Given the description of an element on the screen output the (x, y) to click on. 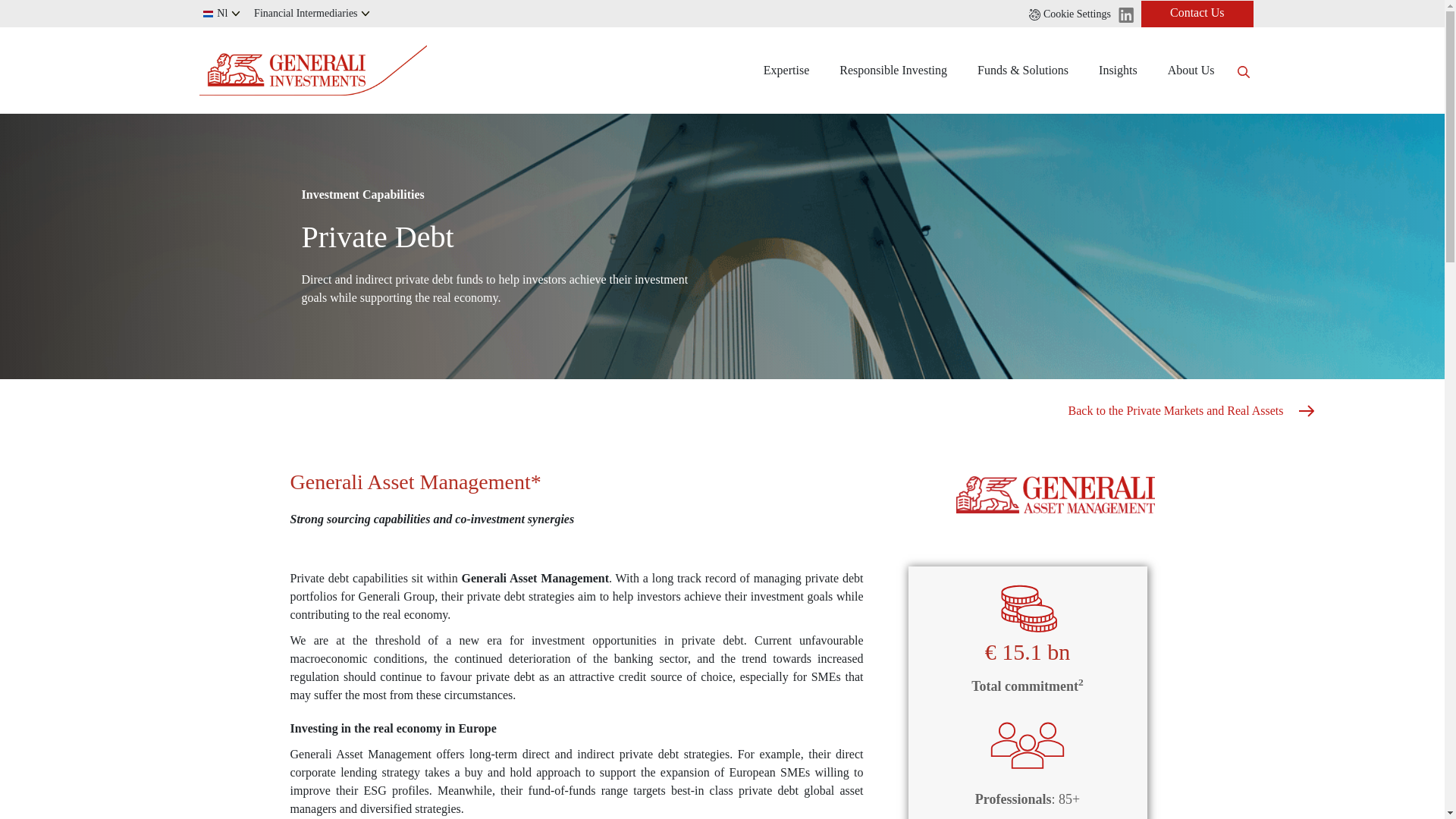
Contact Us (1197, 13)
About Us (1191, 70)
Responsible Investing (893, 70)
